Given the description of an element on the screen output the (x, y) to click on. 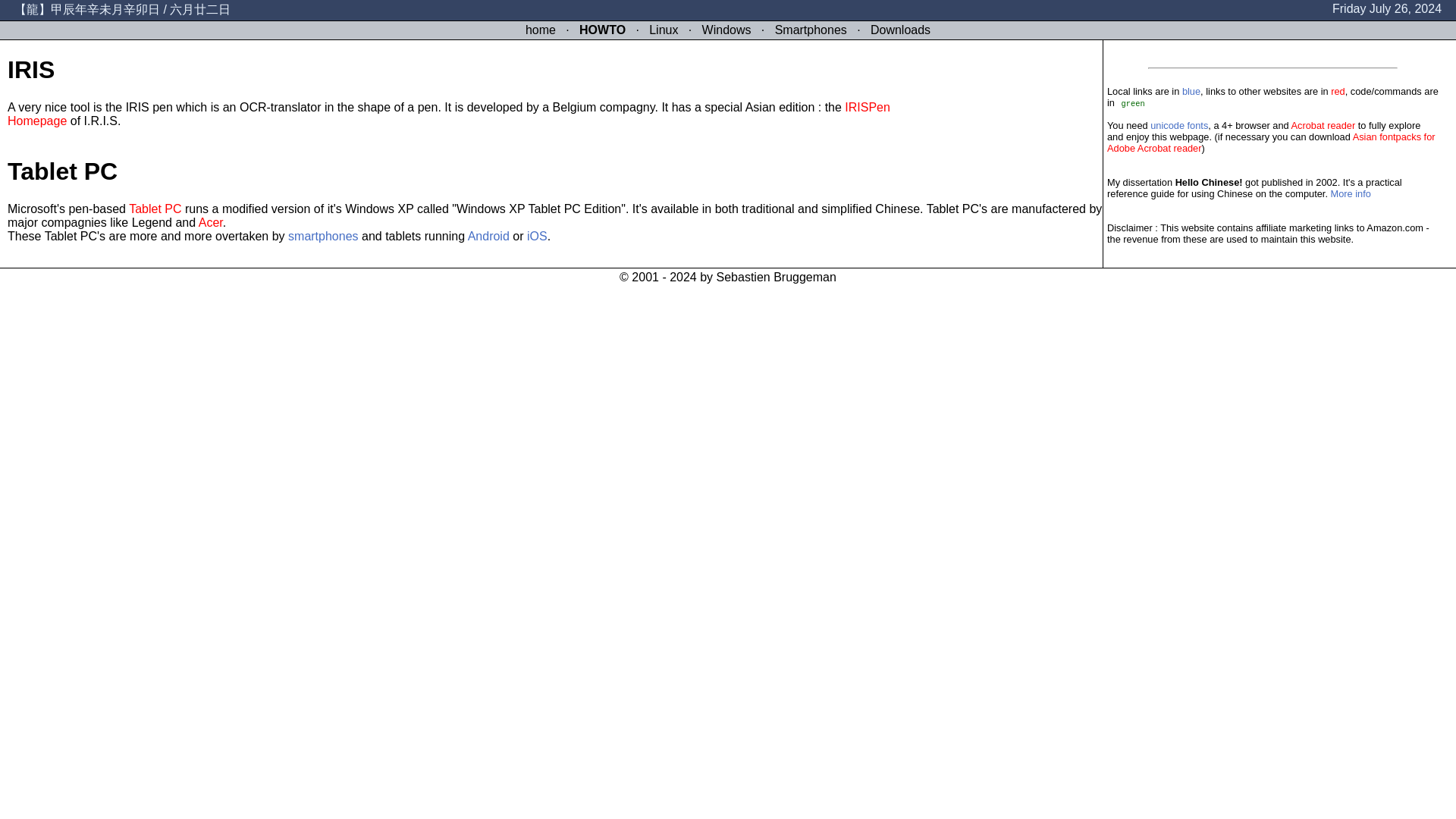
Homepage (36, 120)
HOWTO (602, 29)
Windows (726, 29)
blue (1190, 91)
Smartphones (810, 29)
Downloads (900, 29)
iOS (537, 236)
unicode fonts (1179, 125)
Asian fontpacks for Adobe Acrobat reader (1270, 142)
More info (1350, 193)
Acrobat reader (1323, 125)
Acer (210, 222)
IRISPen (866, 106)
home (540, 29)
smartphones (323, 236)
